Given the description of an element on the screen output the (x, y) to click on. 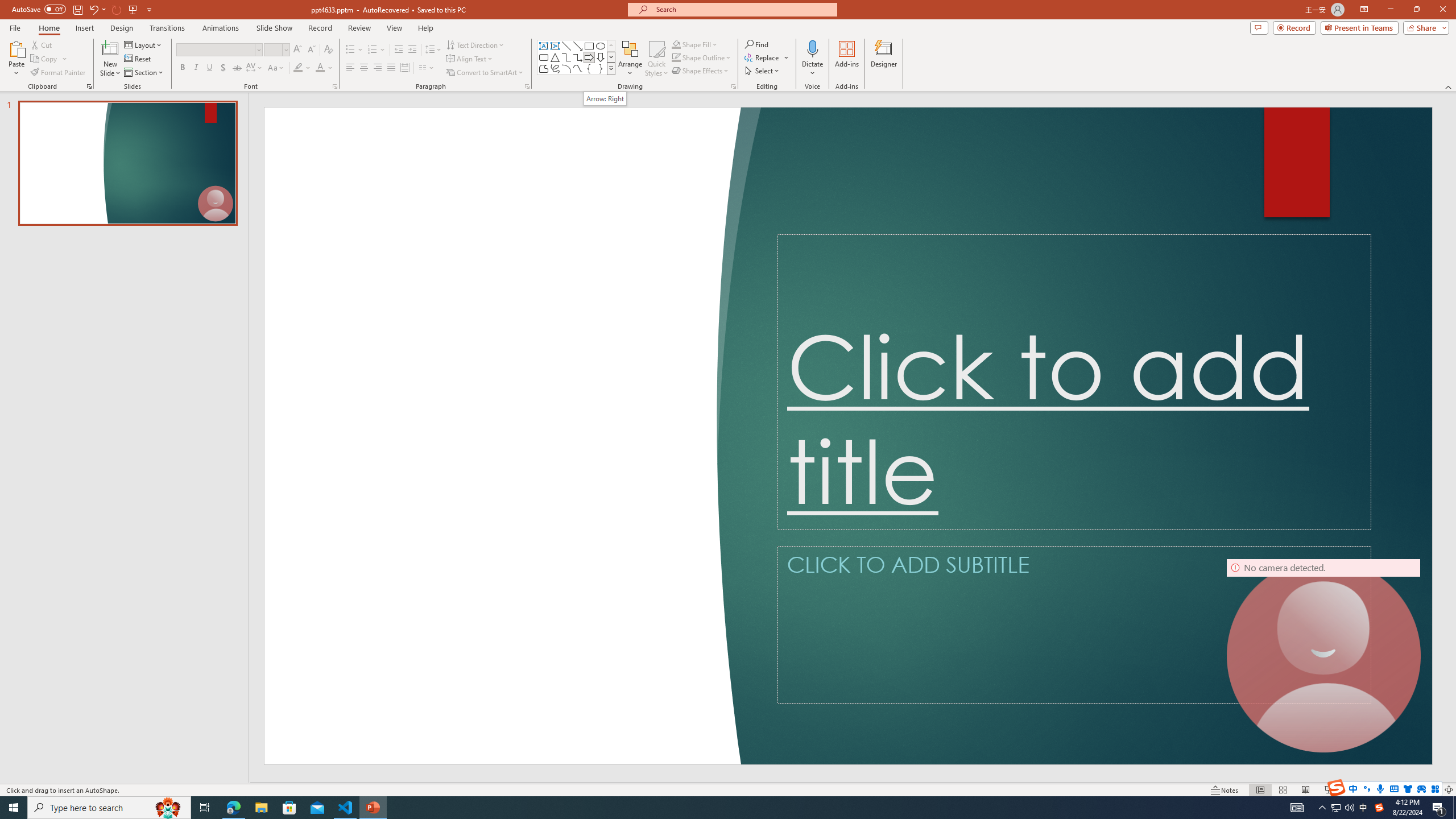
Shape Outline (701, 56)
Character Spacing (254, 67)
Freeform: Shape (543, 68)
Columns (426, 67)
Shadow (223, 67)
Connector: Elbow Arrow (577, 57)
Format Painter (58, 72)
